Given the description of an element on the screen output the (x, y) to click on. 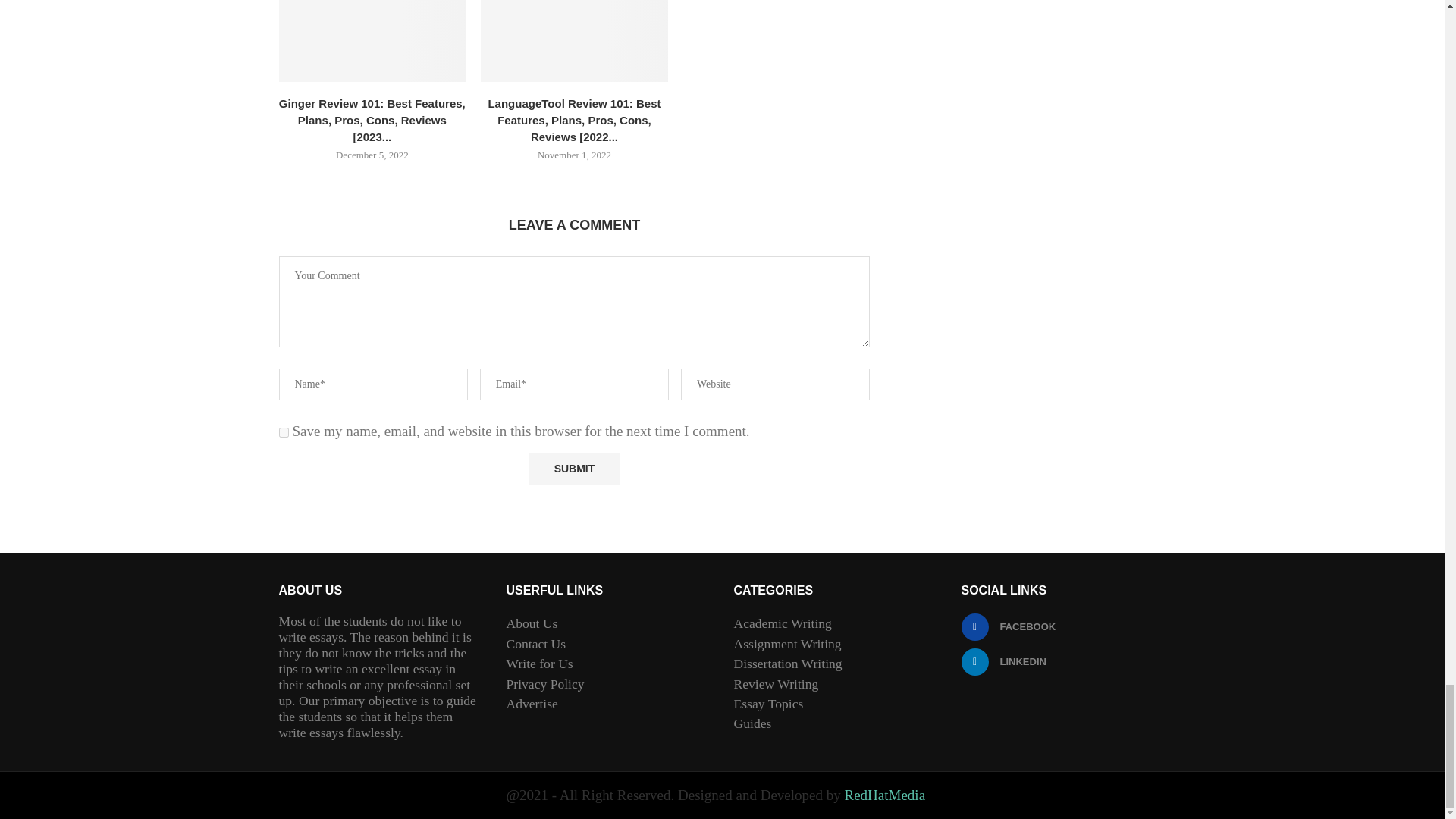
Submit (574, 468)
yes (283, 432)
